Given the description of an element on the screen output the (x, y) to click on. 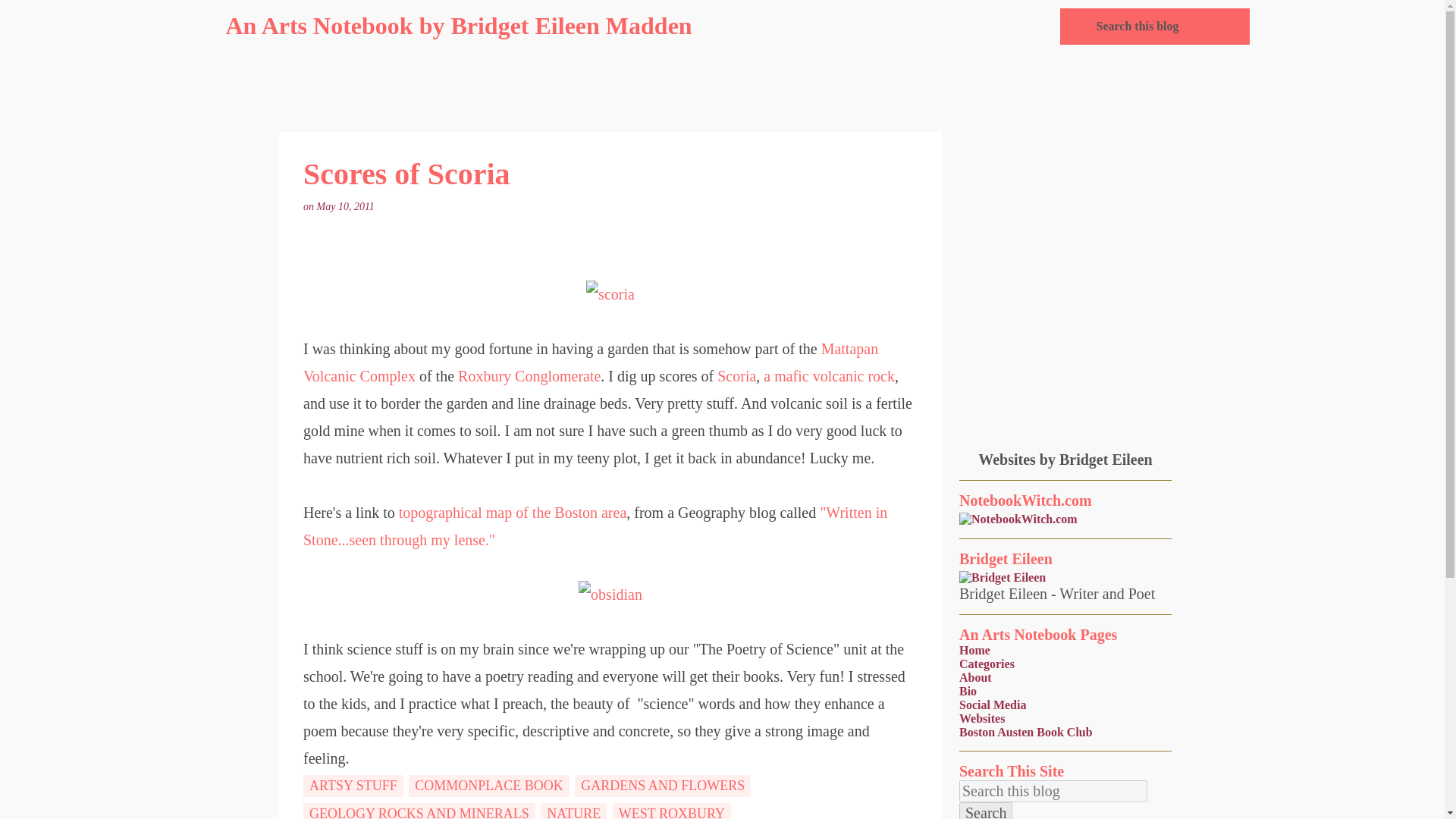
topographical map of the Boston area (512, 512)
WEST ROXBURY (671, 811)
Boston Austen Book Club (1026, 731)
Websites (981, 717)
About (975, 676)
Categories (986, 663)
Email Post (385, 206)
GARDENS AND FLOWERS (663, 785)
Home (974, 649)
Mattapan Volcanic Complex (589, 362)
obsidian by bmadden714, on Flickr (610, 594)
Search (985, 810)
Roxbury Conglomerate (528, 375)
Search (985, 810)
May 10, 2011 (347, 206)
